Given the description of an element on the screen output the (x, y) to click on. 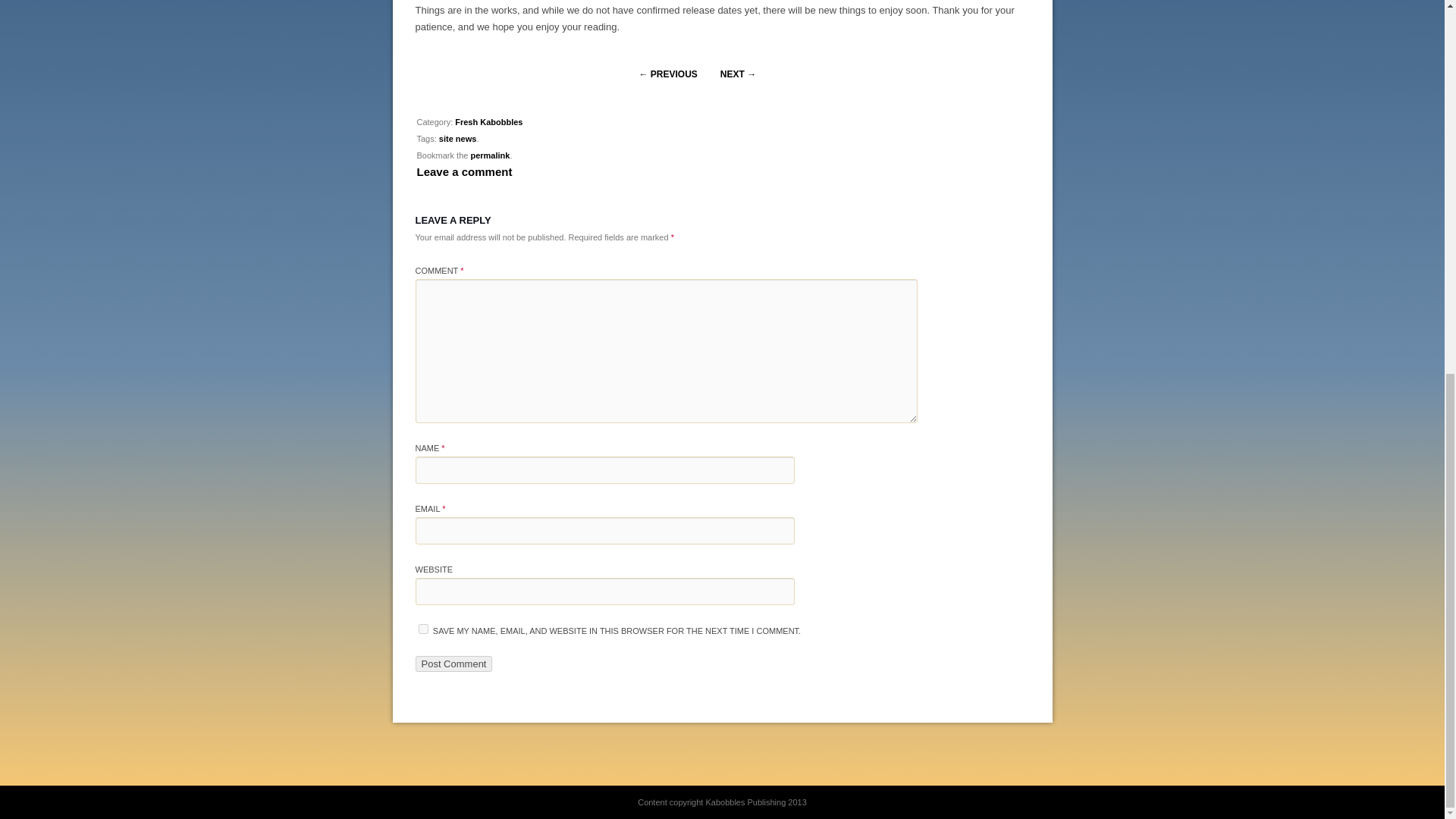
yes (423, 628)
site news (458, 138)
Post Comment (453, 663)
Leave a comment (464, 171)
Post Comment (453, 663)
Fresh Kabobbles (488, 121)
permalink (489, 154)
